Given the description of an element on the screen output the (x, y) to click on. 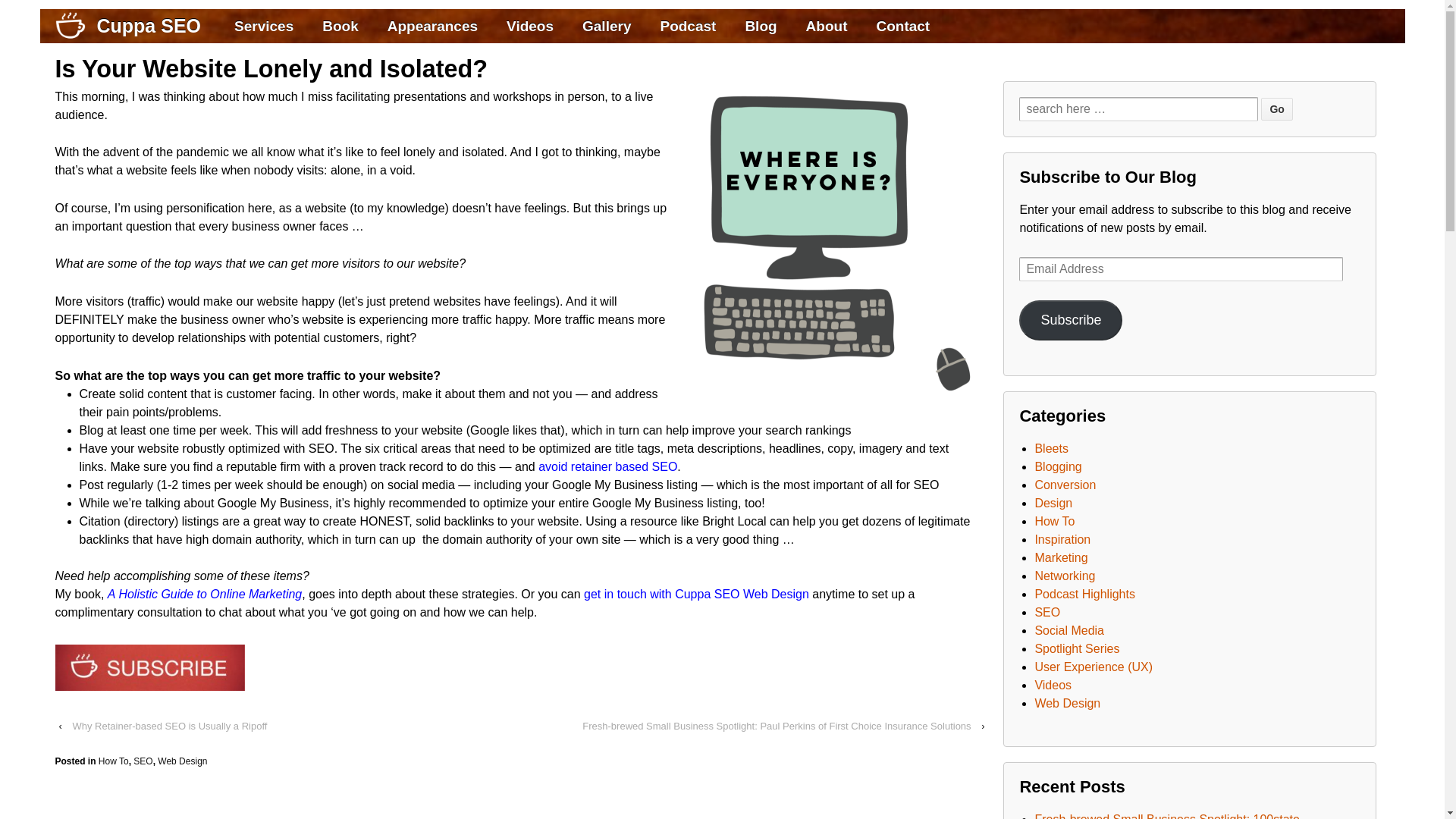
Bleets (1050, 448)
Web Design (181, 760)
Book (339, 26)
Design (1052, 502)
Go (1276, 108)
How To (1053, 521)
Appearances (432, 26)
About (826, 26)
Podcast (687, 26)
Inspiration (1061, 539)
Blogging (1057, 466)
Gallery (606, 26)
Videos (529, 26)
Subscribe (1070, 320)
